Given the description of an element on the screen output the (x, y) to click on. 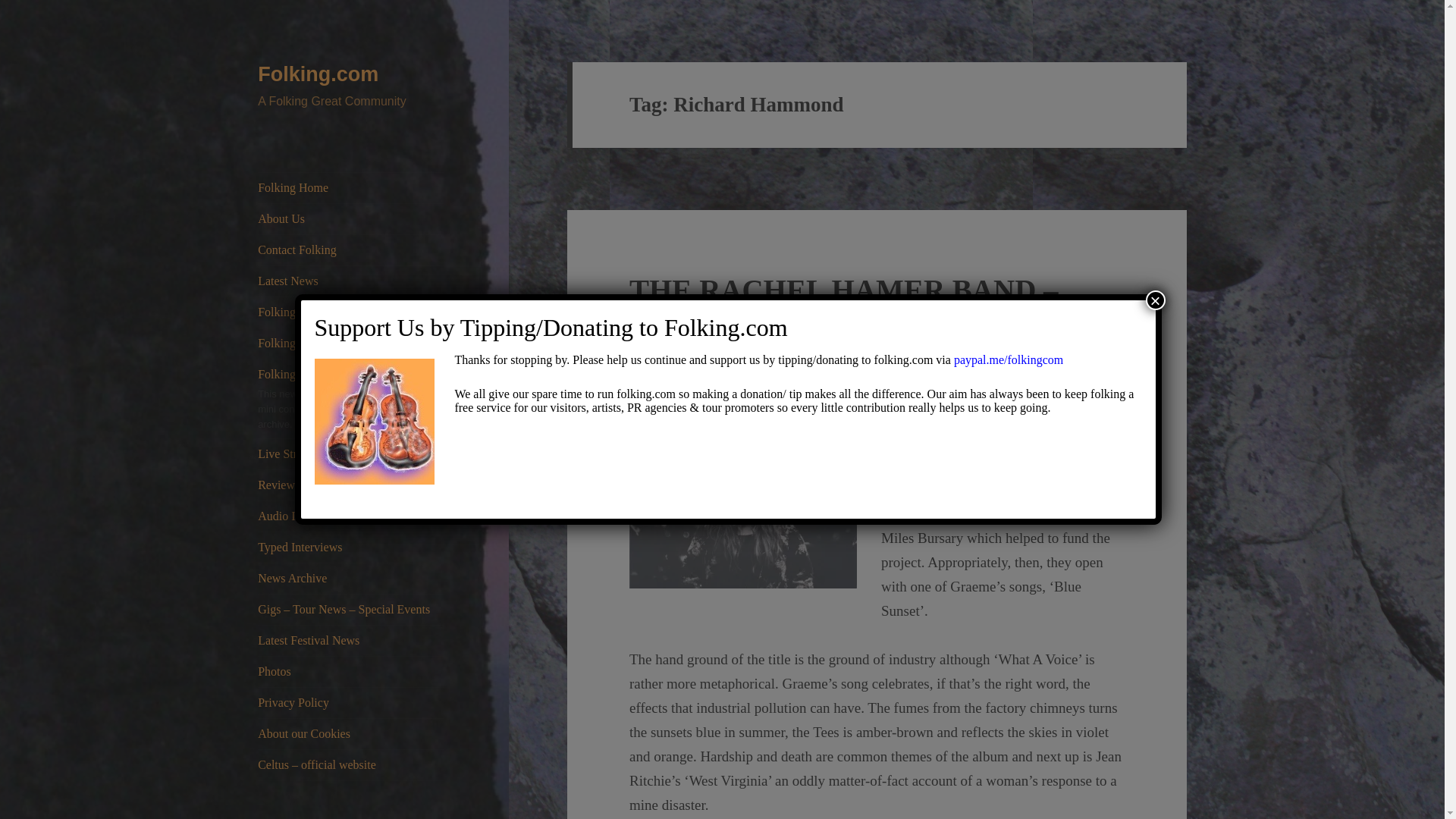
Live Streams (350, 453)
Typed Interviews (350, 547)
Contact Folking (350, 250)
News Archive (350, 578)
Latest News (350, 281)
About our Cookies (350, 734)
Latest Festival News (350, 640)
Reviews (350, 485)
Folking Home (350, 187)
